Given the description of an element on the screen output the (x, y) to click on. 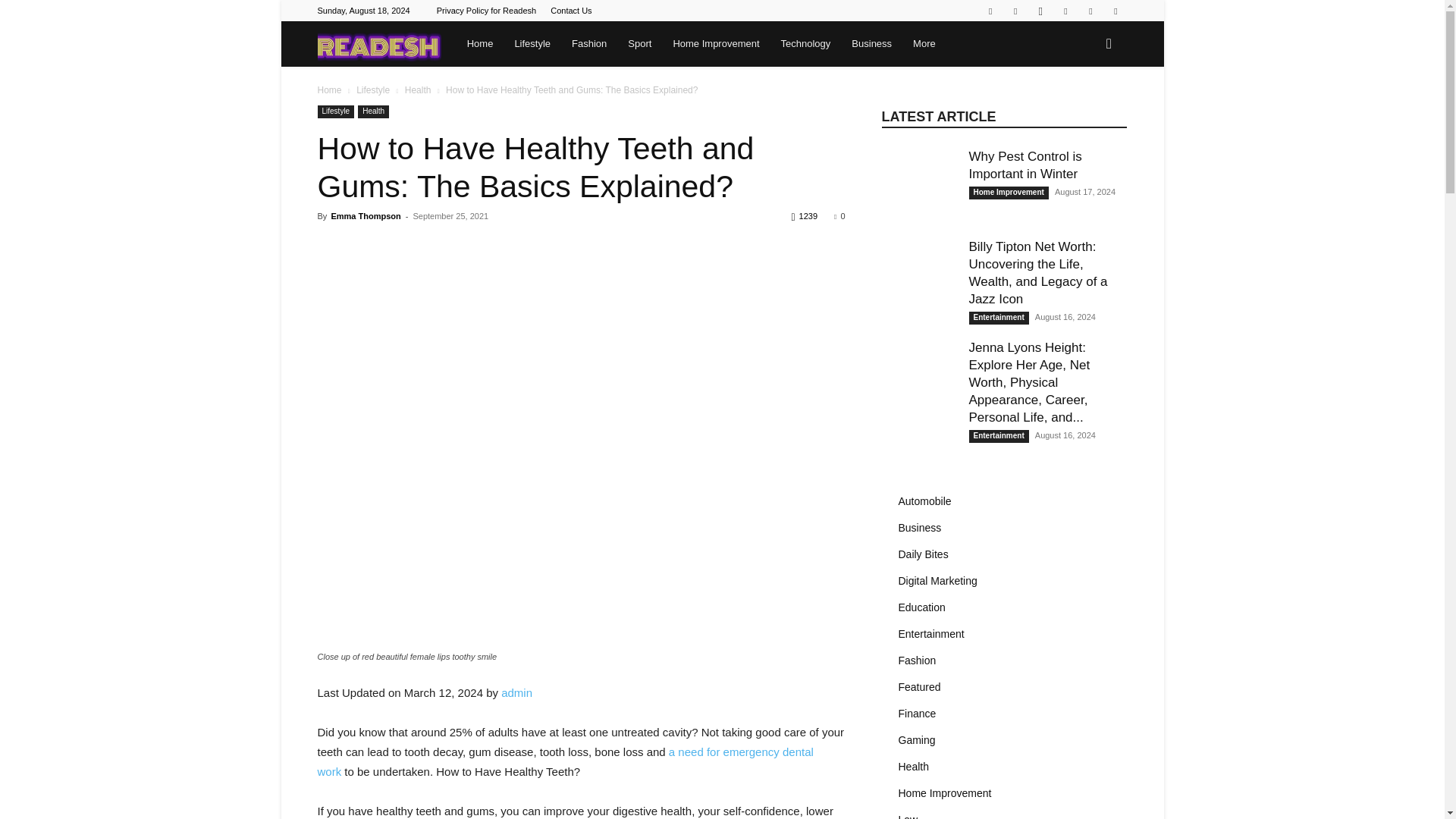
Instagram (1040, 10)
Twitter (1065, 10)
Privacy Policy for Readesh (485, 10)
VKontakte (1114, 10)
Contact Us (570, 10)
Readish Logo (379, 44)
Facebook (1015, 10)
Behance (989, 10)
Vimeo (1090, 10)
